Given the description of an element on the screen output the (x, y) to click on. 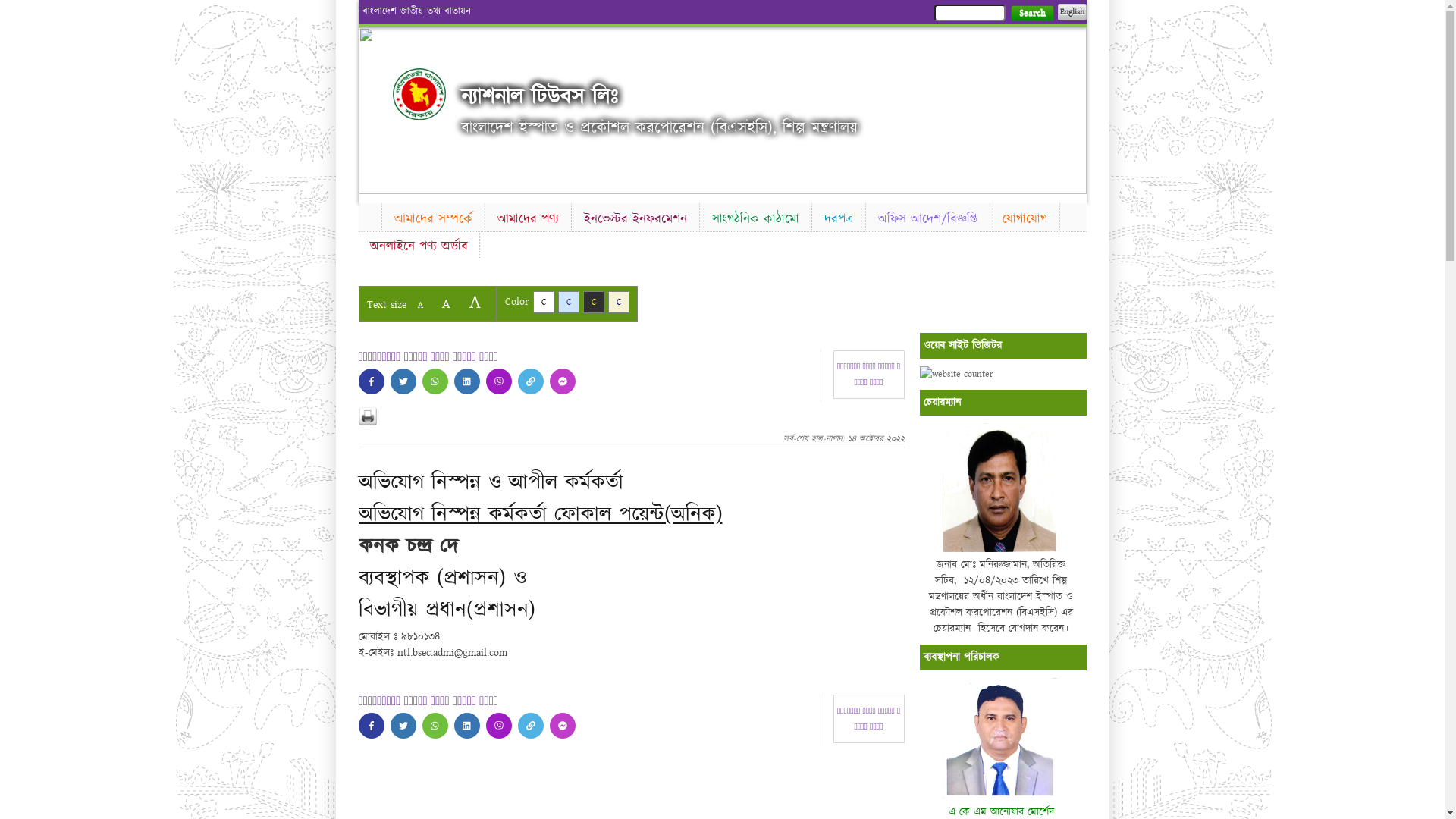
C Element type: text (618, 302)
Home Element type: hover (418, 93)
A Element type: text (474, 302)
Search Element type: text (1031, 13)
C Element type: text (592, 302)
A Element type: text (419, 304)
C Element type: text (568, 302)
Home Element type: hover (368, 215)
A Element type: text (445, 303)
English Element type: text (1071, 11)
website counter Element type: hover (955, 374)
C Element type: text (542, 302)
